Given the description of an element on the screen output the (x, y) to click on. 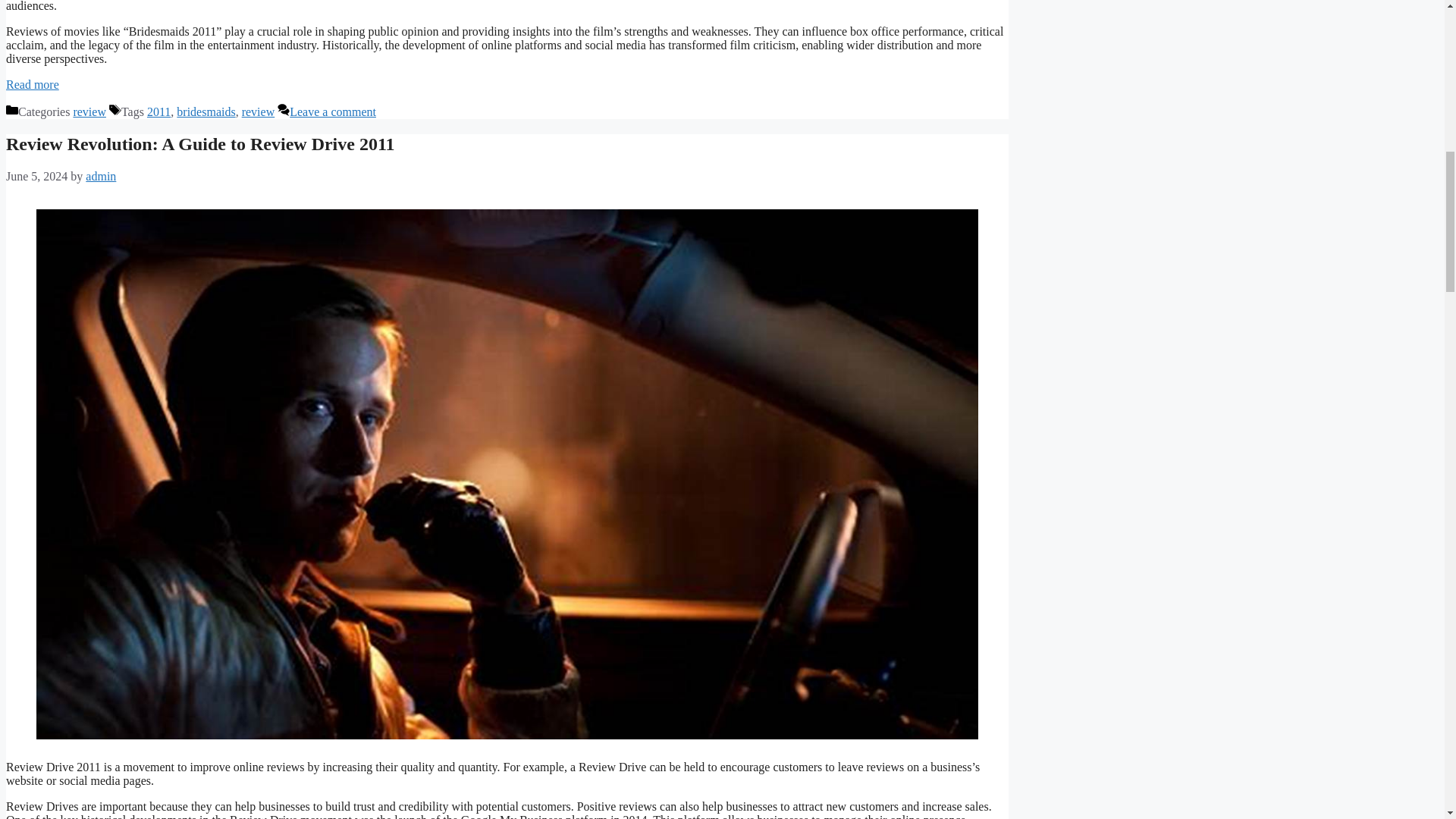
admin (100, 175)
View all posts by admin (100, 175)
Review Revolution: A Guide to Review Drive 2011 (199, 143)
review (89, 111)
Leave a comment (332, 111)
bridesmaids (205, 111)
2011 (158, 111)
review (258, 111)
Read more (32, 83)
